Given the description of an element on the screen output the (x, y) to click on. 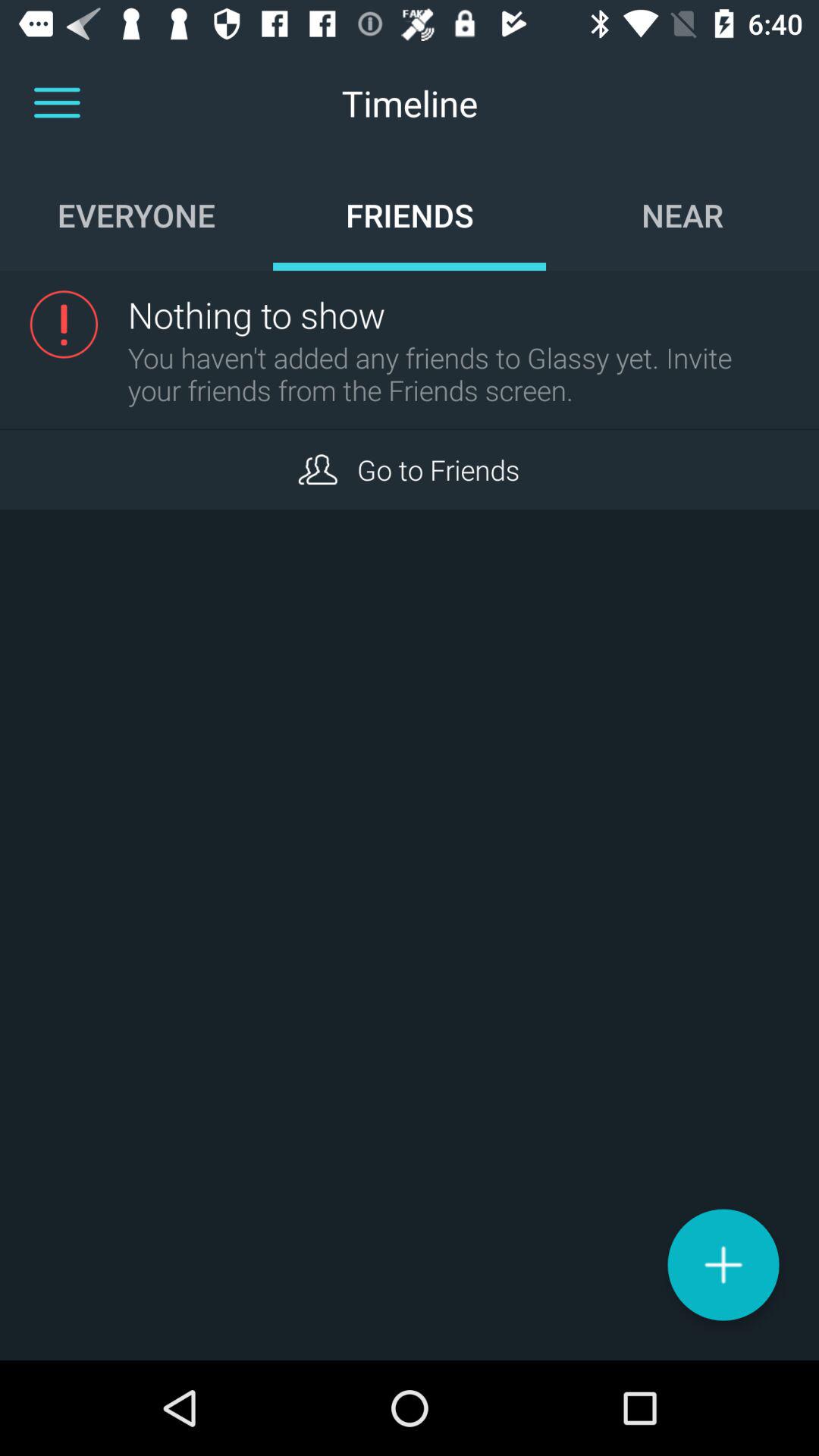
more options (57, 103)
